Given the description of an element on the screen output the (x, y) to click on. 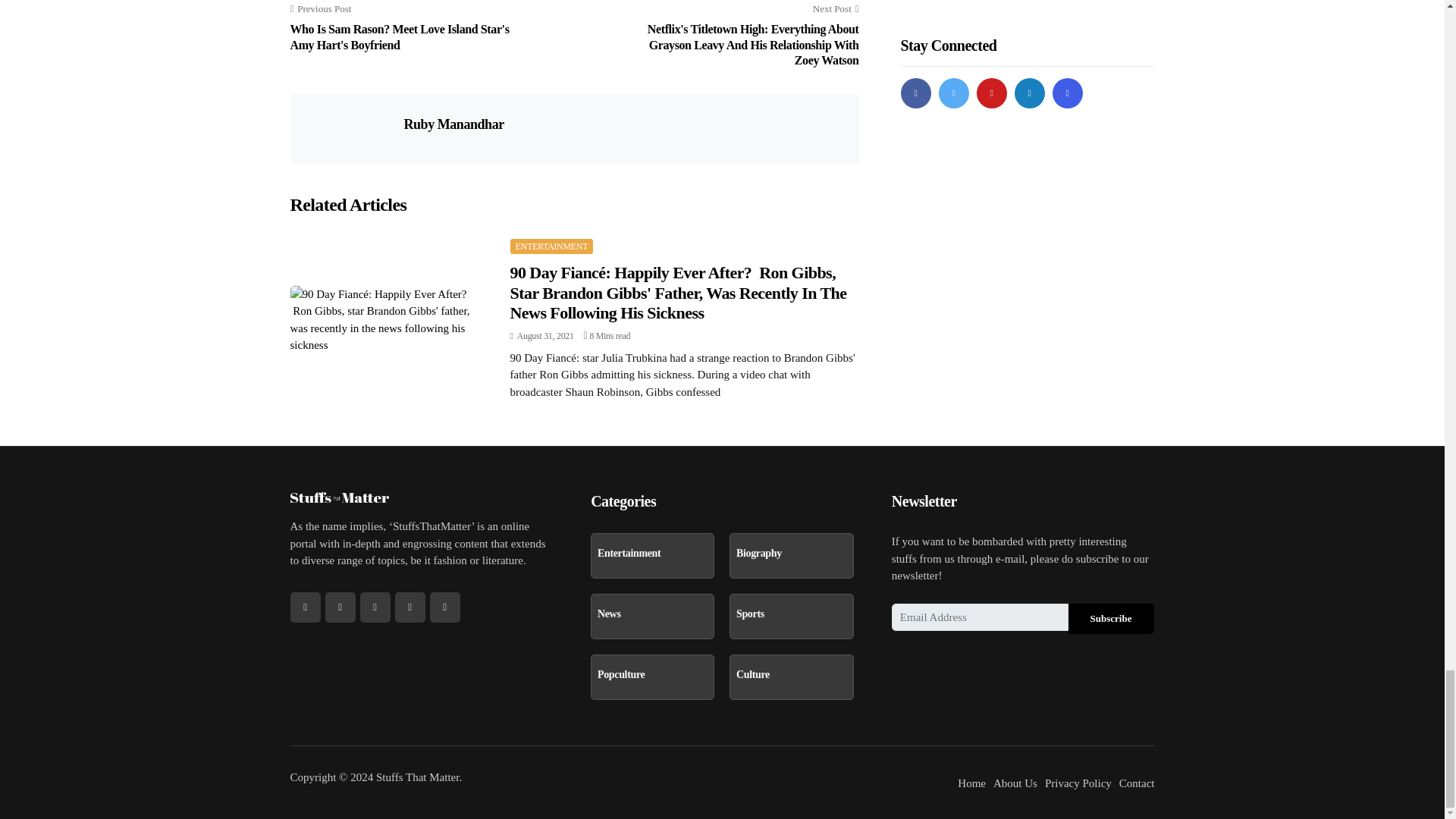
Home (971, 783)
About Us (1014, 783)
Contact (1136, 783)
August 31, 2021 11:36 AM (541, 335)
Privacy Policy (1078, 783)
ENTERTAINMENT (550, 246)
